Given the description of an element on the screen output the (x, y) to click on. 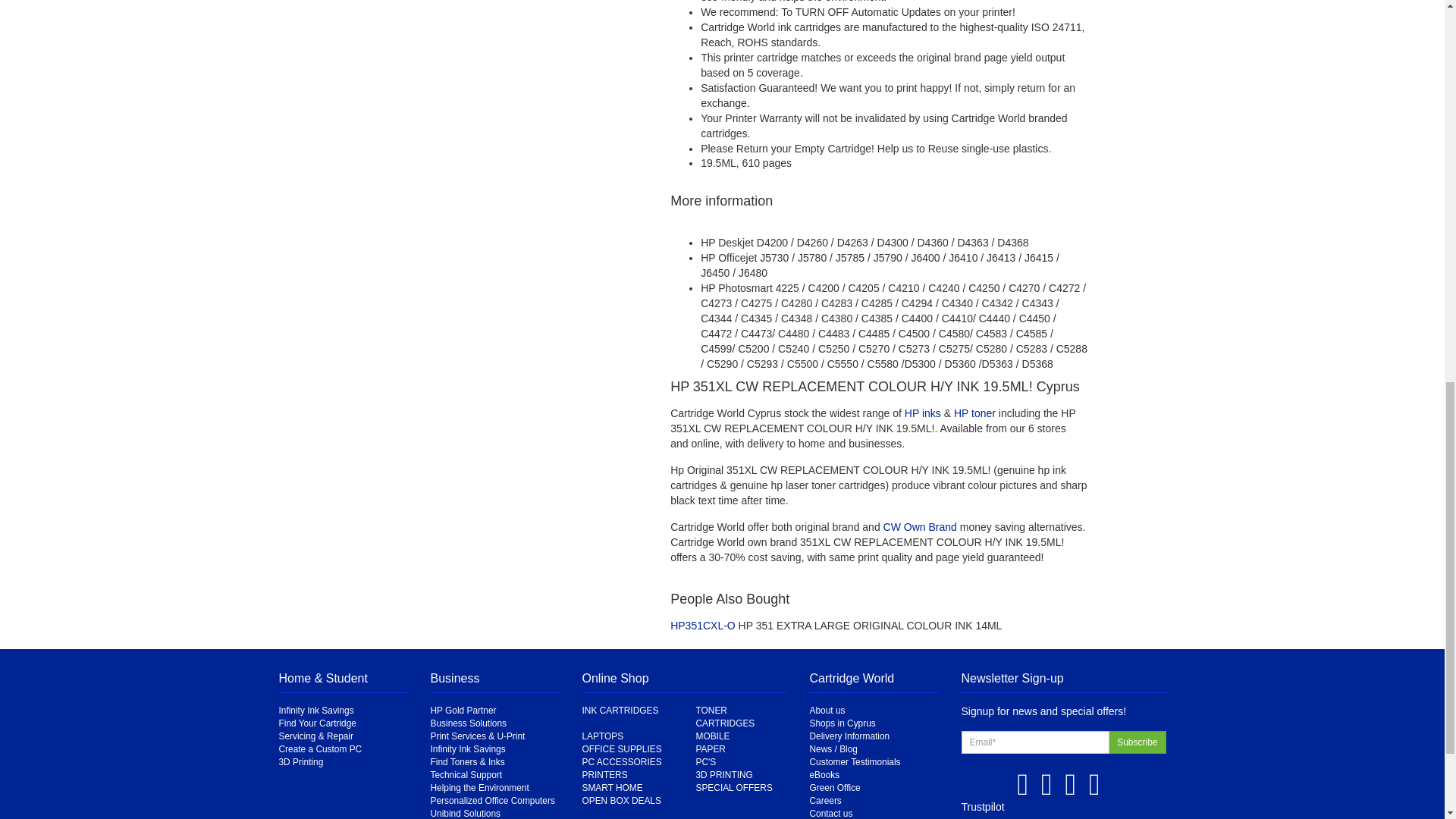
HP toner (974, 413)
CW Own Brand (919, 526)
HP toner (974, 413)
Hp inks (922, 413)
CW own brand cartridges (919, 526)
HP inks (922, 413)
